Given the description of an element on the screen output the (x, y) to click on. 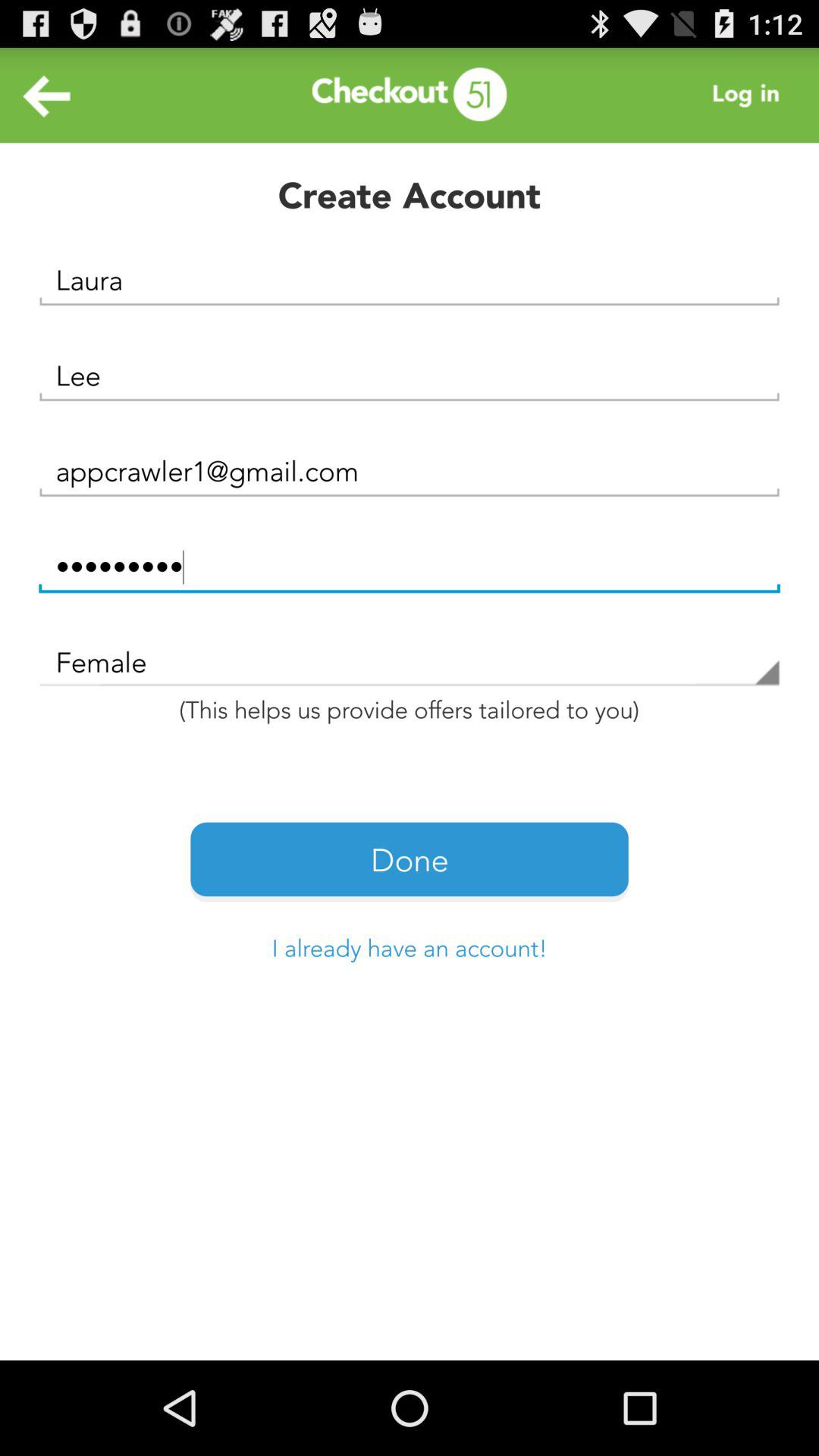
log in (750, 95)
